Given the description of an element on the screen output the (x, y) to click on. 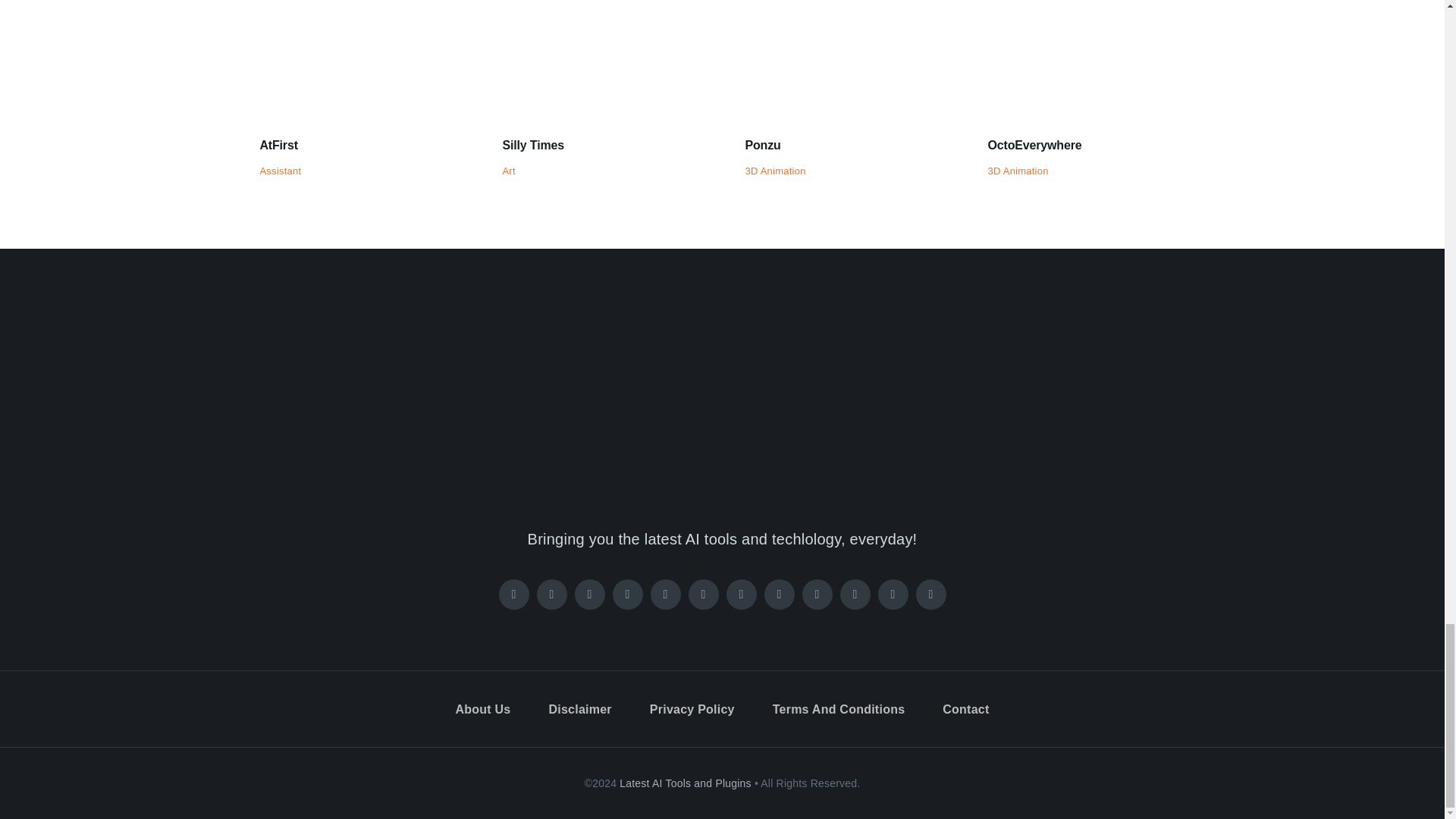
LinkedIn (779, 594)
YouTube (741, 594)
Twitch (665, 594)
Tiktok (703, 594)
Instagram (590, 594)
Twitter (552, 594)
Dribbble (817, 594)
Facebook (514, 594)
Pinterest (627, 594)
Tumblr (855, 594)
